Given the description of an element on the screen output the (x, y) to click on. 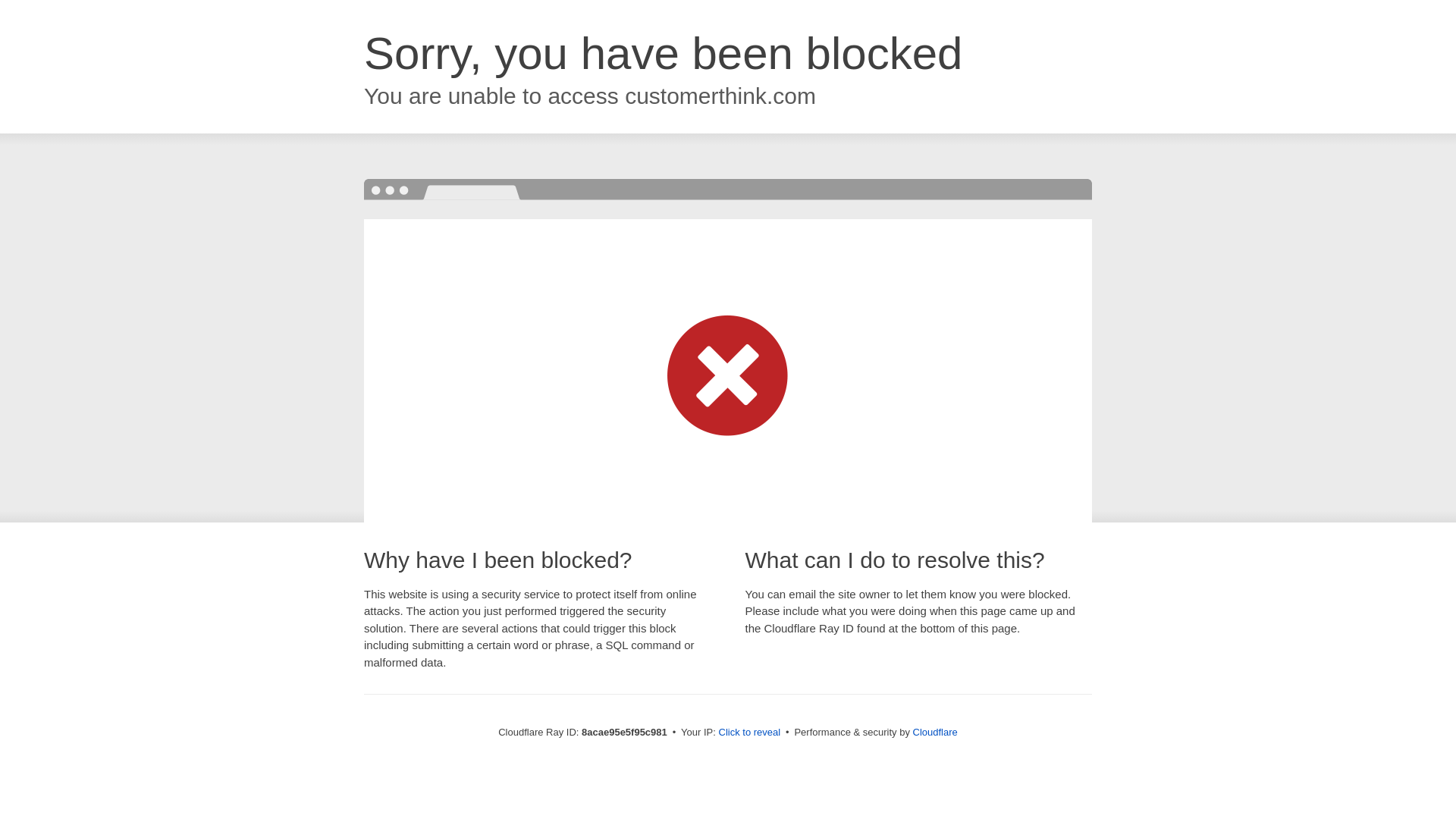
Cloudflare (935, 731)
Click to reveal (749, 732)
